Given the description of an element on the screen output the (x, y) to click on. 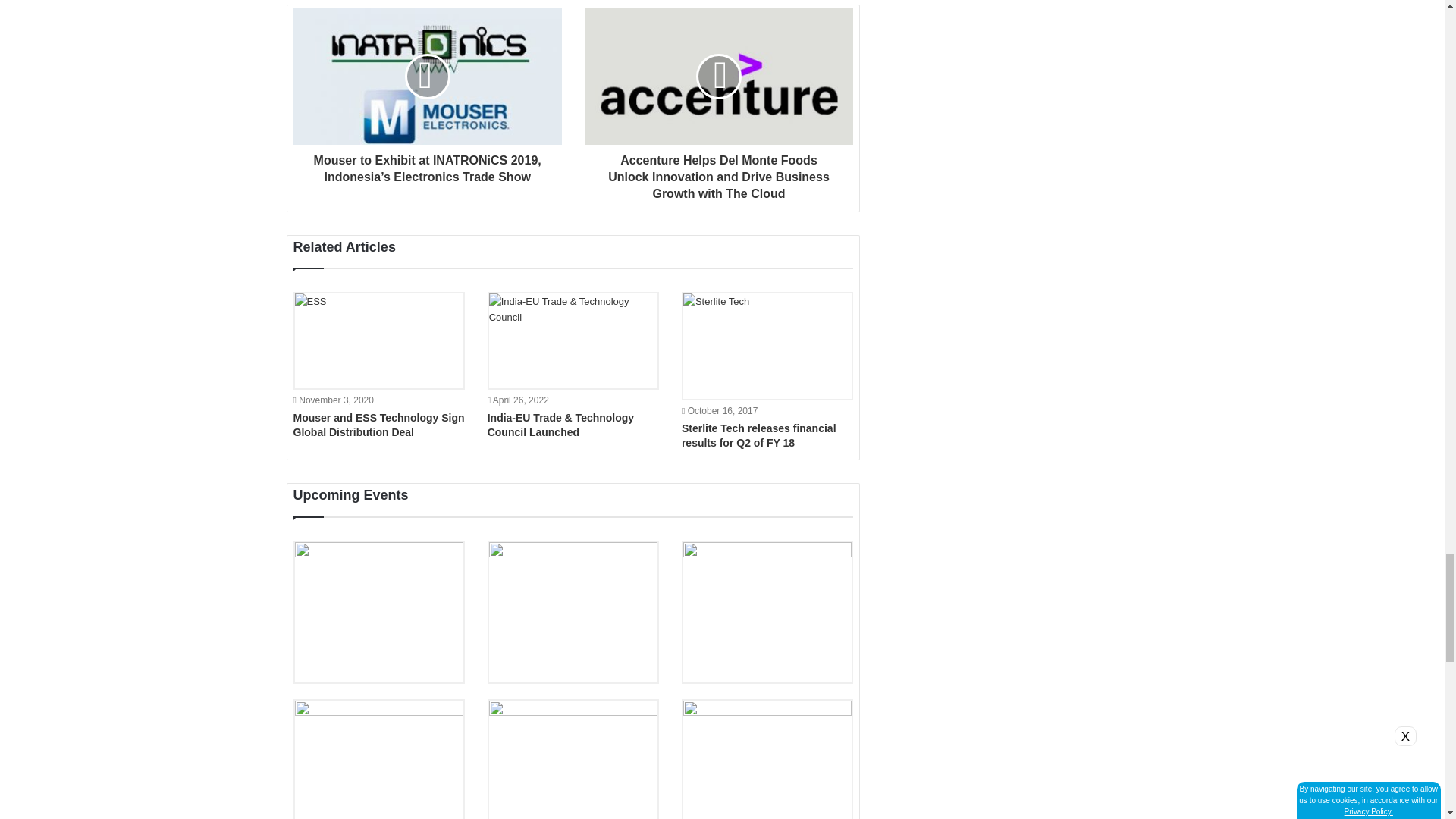
Sterlite Tech releases financial results for Q2 of FY 18 (758, 435)
Mouser and ESS Technology Sign Global Distribution Deal (378, 340)
Mouser and ESS Technology Sign Global Distribution Deal (378, 424)
Sterlite Tech releases financial results for Q2 of FY 18 (767, 345)
